Given the description of an element on the screen output the (x, y) to click on. 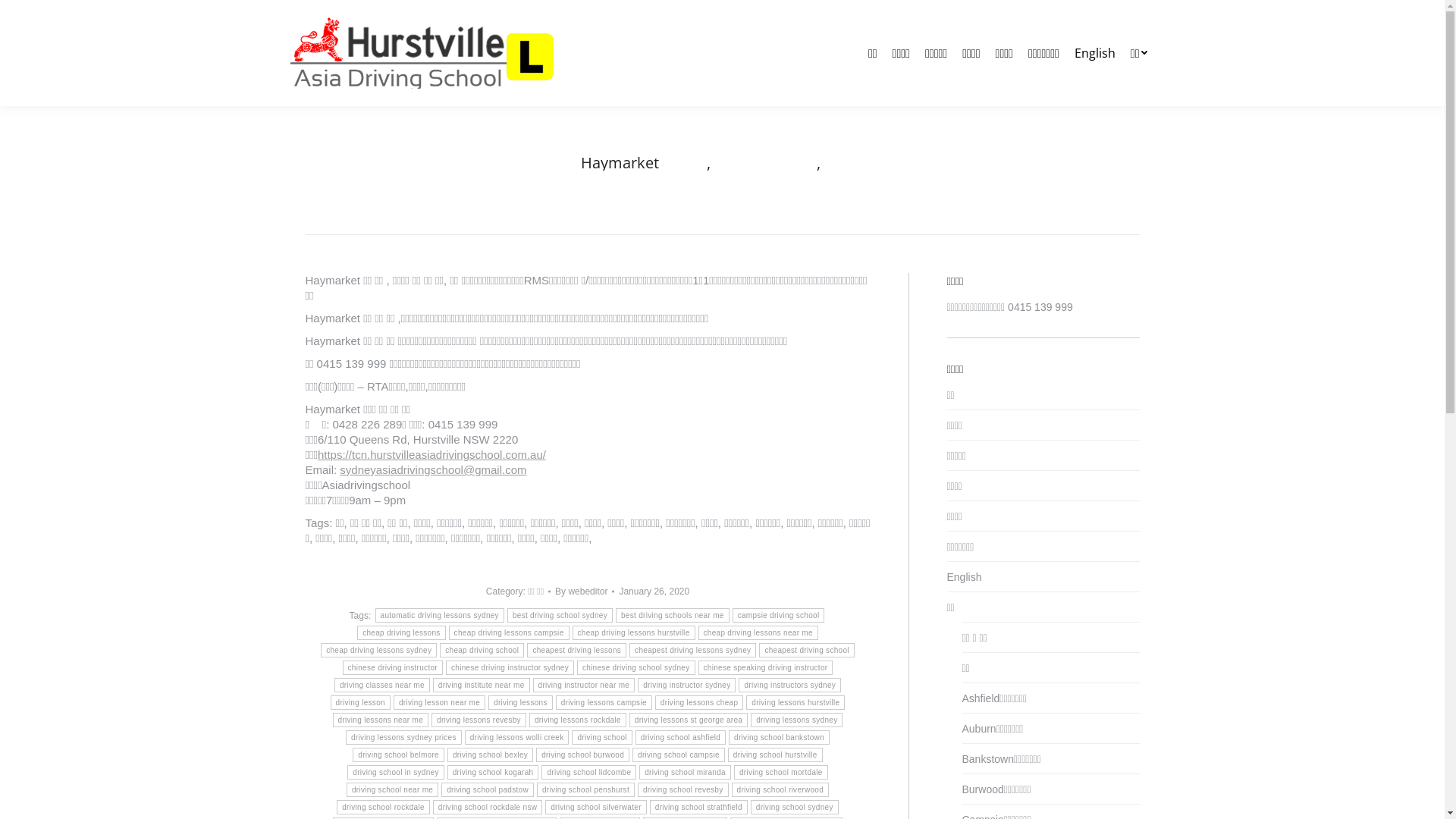
cheap driving lessons campsie Element type: text (508, 632)
cheap driving lessons sydney Element type: text (378, 650)
driving school Element type: text (601, 737)
driving school bankstown Element type: text (778, 737)
driving lessons sydney prices Element type: text (403, 737)
driving lessons campsie Element type: text (603, 702)
driving school mortdale Element type: text (781, 772)
sydneyasiadrivingschool@gmail.com Element type: text (432, 469)
campsie driving school Element type: text (778, 615)
driving school padstow Element type: text (487, 789)
best driving schools near me Element type: text (672, 615)
driving school rockdale Element type: text (382, 807)
driving lessons near me Element type: text (380, 719)
cheap driving lessons near me Element type: text (758, 632)
English Element type: text (963, 576)
driving school revesby Element type: text (682, 789)
driving school burwood Element type: text (582, 754)
cheapest driving school Element type: text (806, 650)
cheap driving lessons Element type: text (401, 632)
chinese driving instructor Element type: text (392, 667)
driving lessons cheap Element type: text (699, 702)
driving lessons hurstville Element type: text (795, 702)
driving lesson near me Element type: text (439, 702)
chinese driving instructor sydney Element type: text (509, 667)
driving lessons sydney Element type: text (796, 719)
driving school silverwater Element type: text (595, 807)
driving classes near me Element type: text (381, 684)
January 26, 2020 Element type: text (653, 591)
cheap driving school Element type: text (481, 650)
chinese speaking driving instructor Element type: text (764, 667)
cheapest driving lessons Element type: text (576, 650)
chinese driving school sydney Element type: text (636, 667)
driving school riverwood Element type: text (779, 789)
driving school belmore Element type: text (398, 754)
By webeditor Element type: text (584, 591)
driving instructor near me Element type: text (584, 684)
driving lessons revesby Element type: text (478, 719)
driving school hurstville Element type: text (775, 754)
driving school penshurst Element type: text (585, 789)
driving school in sydney Element type: text (395, 772)
driving school near me Element type: text (392, 789)
driving lessons wolli creek Element type: text (516, 737)
driving instructor sydney Element type: text (686, 684)
driving instructors sydney Element type: text (789, 684)
driving school strathfield Element type: text (698, 807)
cheapest driving lessons sydney Element type: text (692, 650)
Home Element type: text (641, 177)
cheap driving lessons hurstville Element type: text (632, 632)
driving school ashfield Element type: text (680, 737)
driving school bexley Element type: text (490, 754)
driving school sydney Element type: text (794, 807)
driving institute near me Element type: text (481, 684)
driving school lidcombe Element type: text (588, 772)
driving school miranda Element type: text (685, 772)
https://tcn.hurstvilleasiadrivingschool.com.au/ Element type: text (431, 454)
driving lesson Element type: text (360, 702)
driving lessons rockdale Element type: text (577, 719)
automatic driving lessons sydney Element type: text (439, 615)
driving school rockdale nsw Element type: text (487, 807)
best driving school sydney Element type: text (559, 615)
driving lessons st george area Element type: text (688, 719)
driving lessons Element type: text (520, 702)
driving school kogarah Element type: text (493, 772)
English Element type: text (1094, 52)
driving school campsie Element type: text (678, 754)
